Given the description of an element on the screen output the (x, y) to click on. 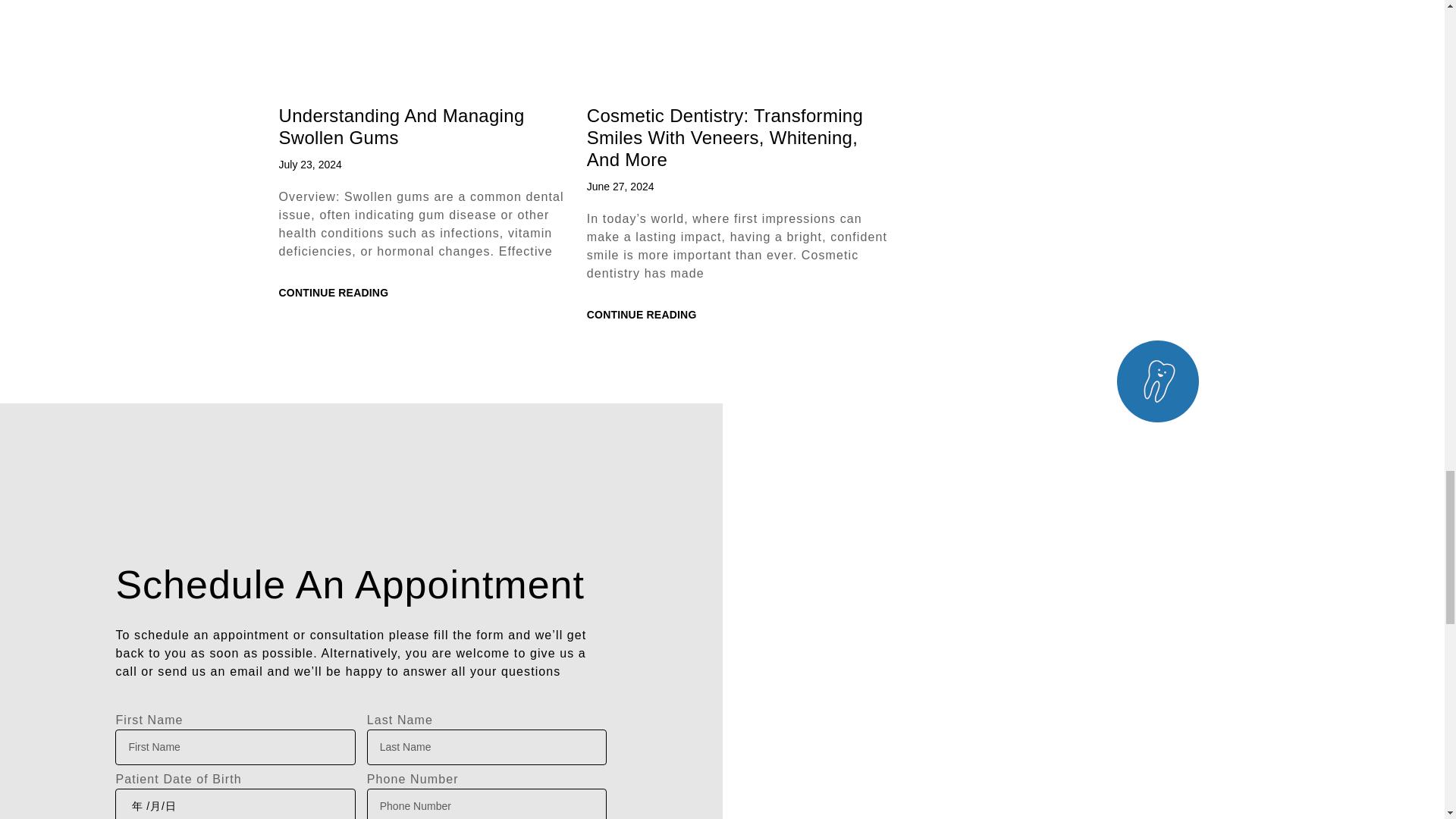
Understanding And Managing Swollen Gums (401, 126)
CONTINUE READING (333, 292)
CONTINUE READING (641, 314)
